Given the description of an element on the screen output the (x, y) to click on. 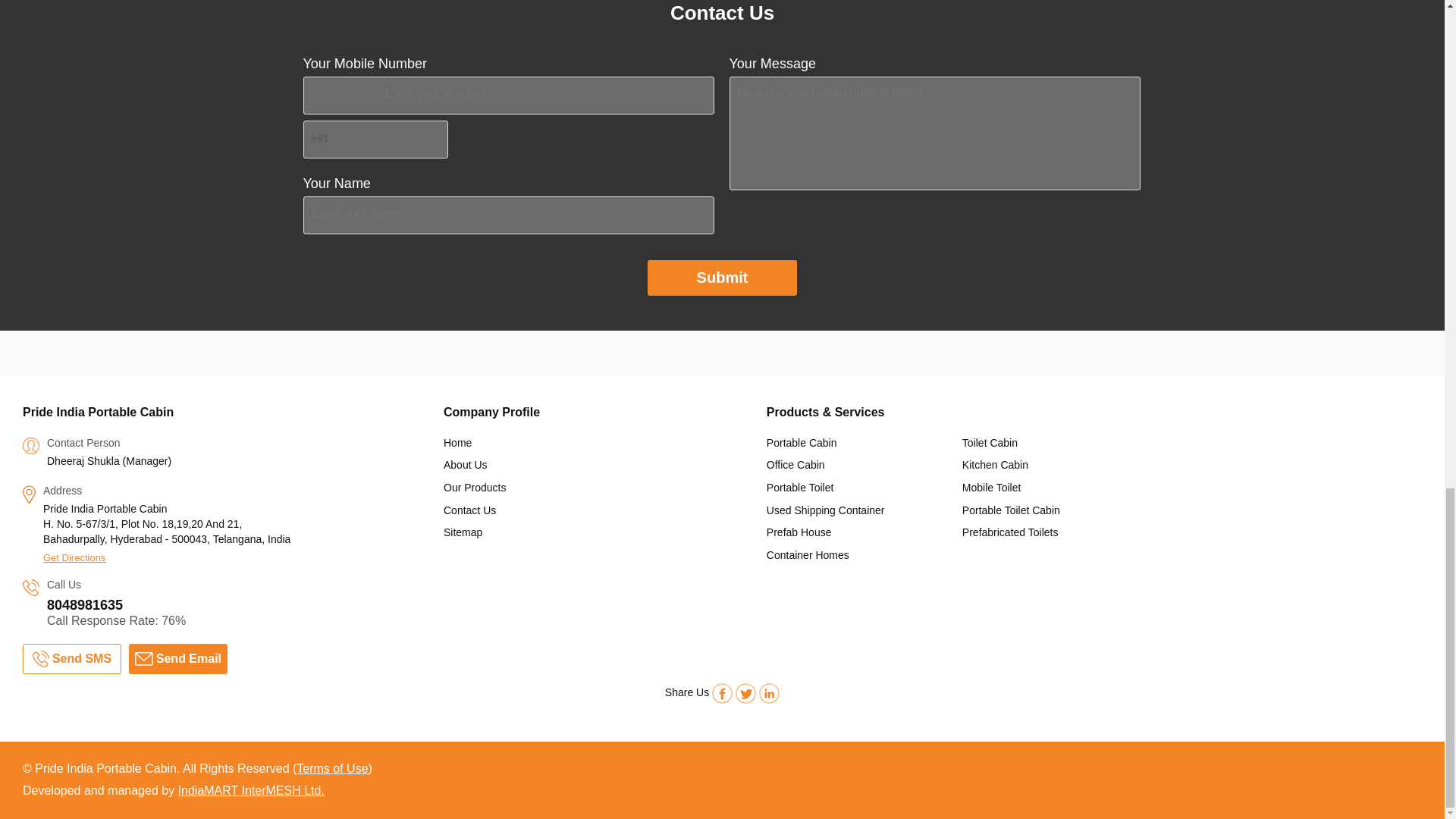
Submit (722, 277)
